Given the description of an element on the screen output the (x, y) to click on. 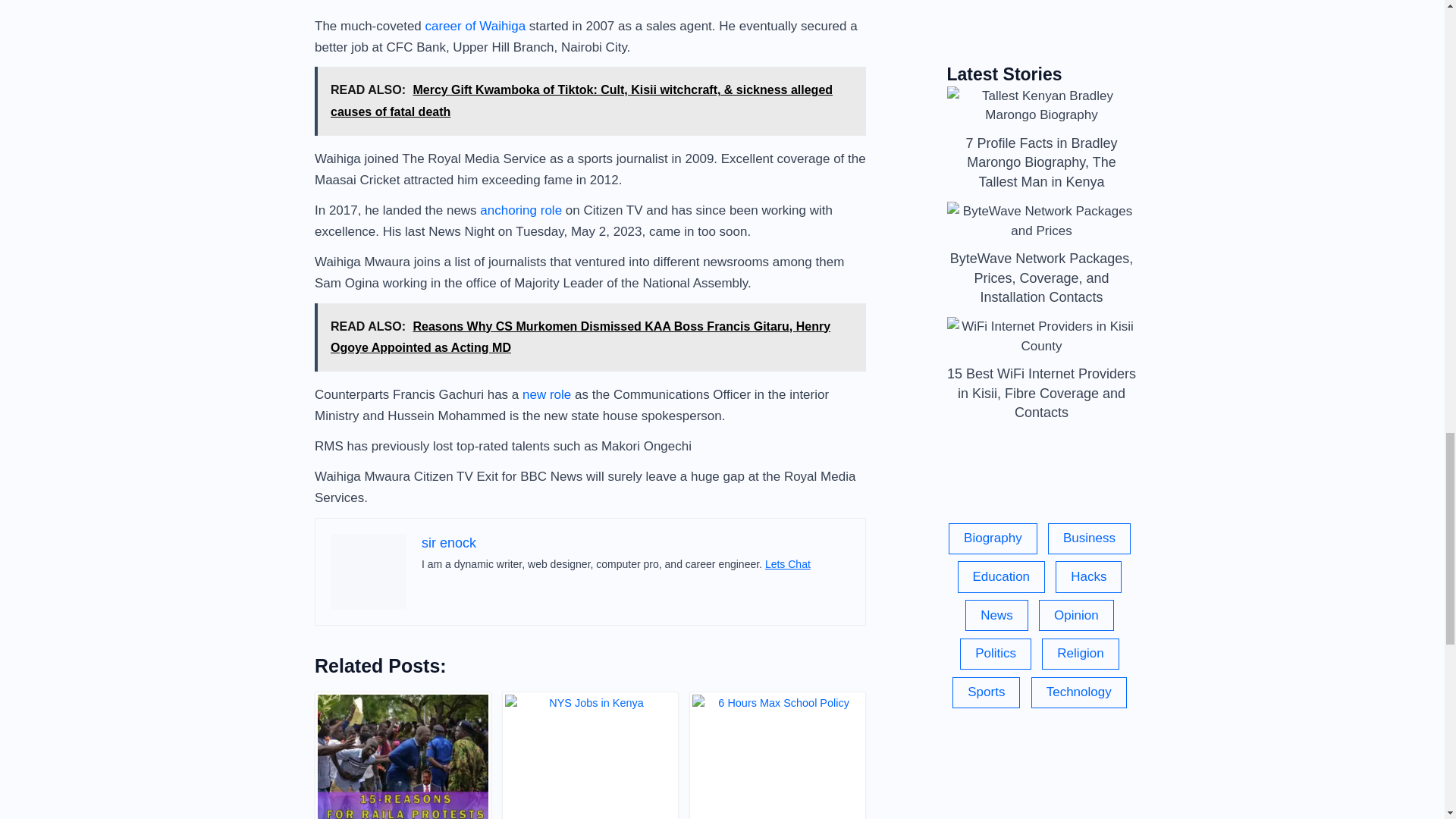
anchoring role (521, 210)
new role (546, 394)
career of Waihiga (475, 25)
sir enock (449, 542)
Lets Chat (787, 563)
